Given the description of an element on the screen output the (x, y) to click on. 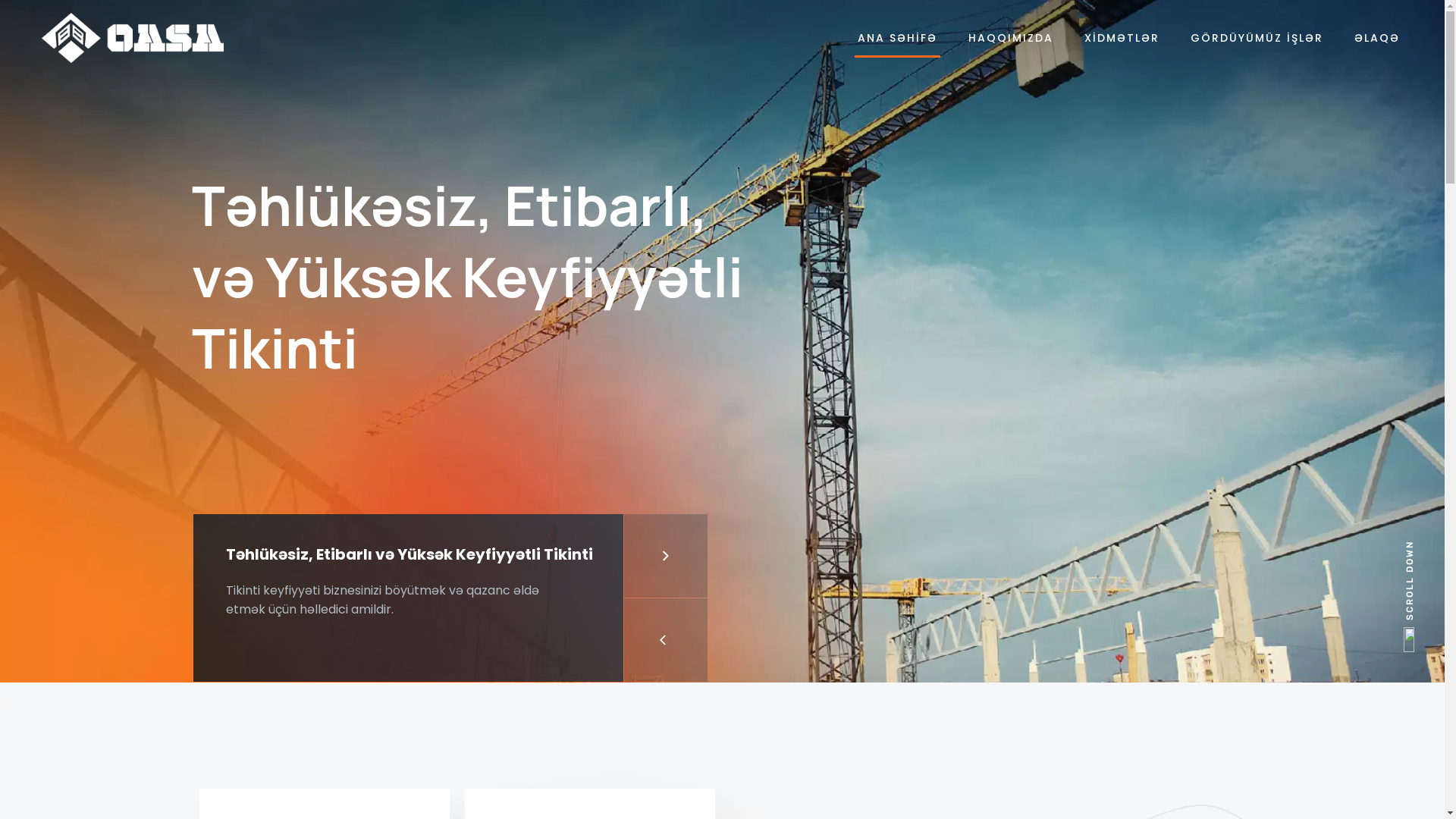
HAQQIMIZDA Element type: text (1010, 37)
